Given the description of an element on the screen output the (x, y) to click on. 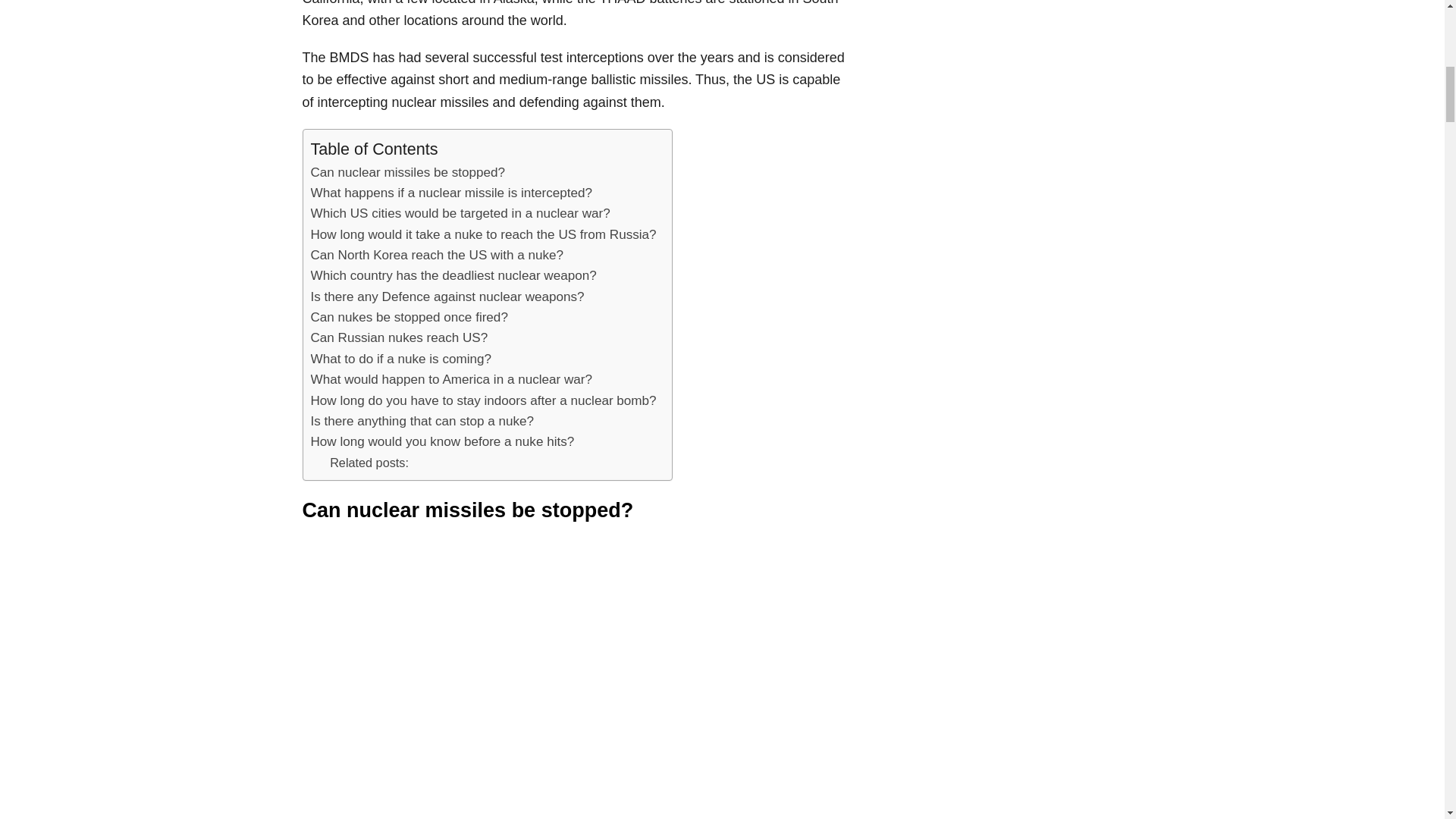
Can Russian nukes reach US? (399, 337)
How long would you know before a nuke hits? (443, 441)
How long would it take a nuke to reach the US from Russia? (483, 234)
Is there anything that can stop a nuke? (422, 421)
Which US cities would be targeted in a nuclear war? (460, 213)
Can North Korea reach the US with a nuke? (437, 254)
What to do if a nuke is coming? (401, 358)
Is there any Defence against nuclear weapons? (448, 296)
Can Russian nukes reach US? (399, 337)
Which country has the deadliest nuclear weapon? (453, 275)
Is there anything that can stop a nuke? (422, 421)
How long would you know before a nuke hits? (443, 441)
Can nuclear missiles be stopped? (408, 172)
Can nukes be stopped once fired? (409, 317)
How long would it take a nuke to reach the US from Russia? (483, 234)
